Given the description of an element on the screen output the (x, y) to click on. 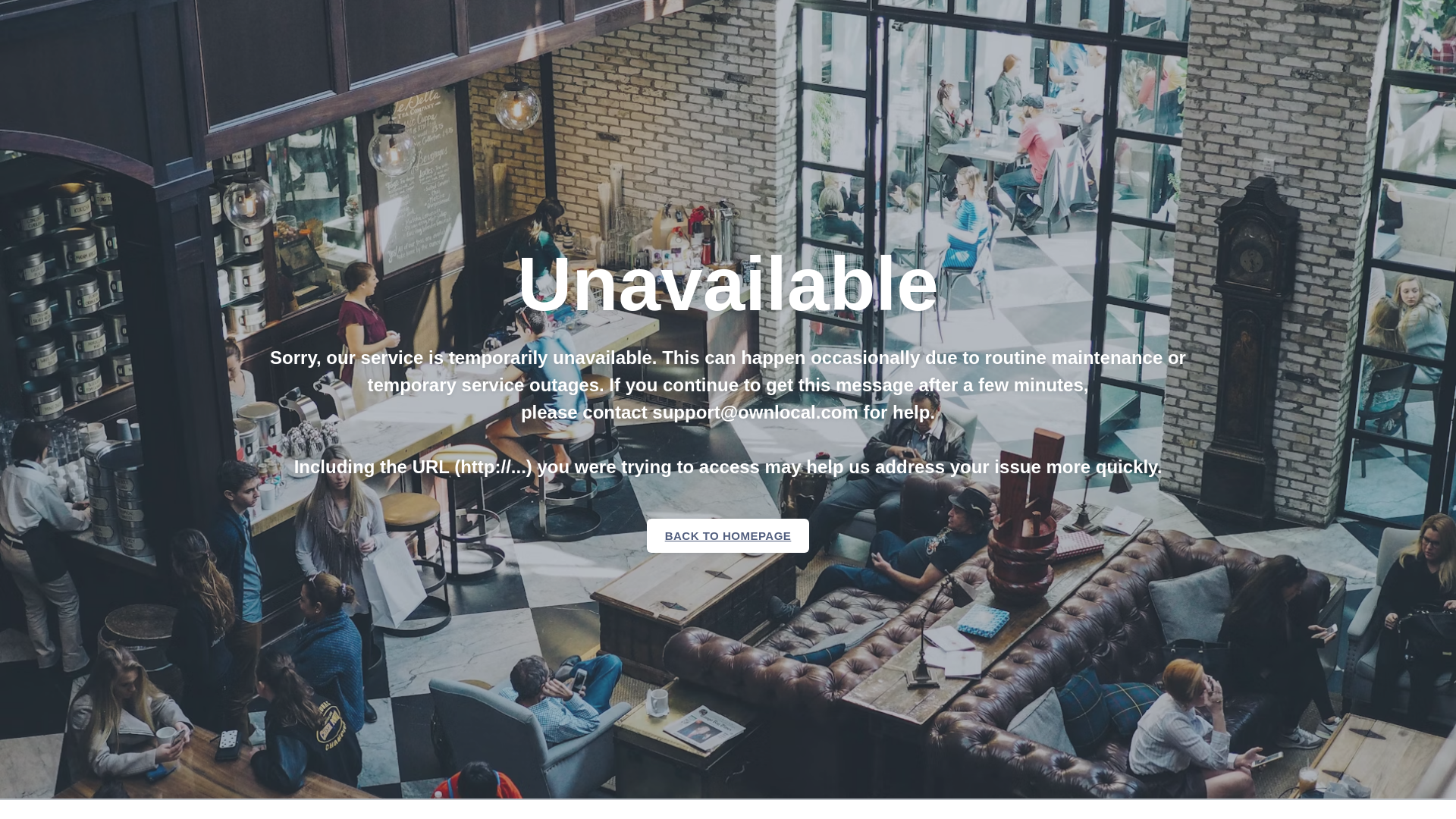
BACK TO HOMEPAGE (727, 535)
